Given the description of an element on the screen output the (x, y) to click on. 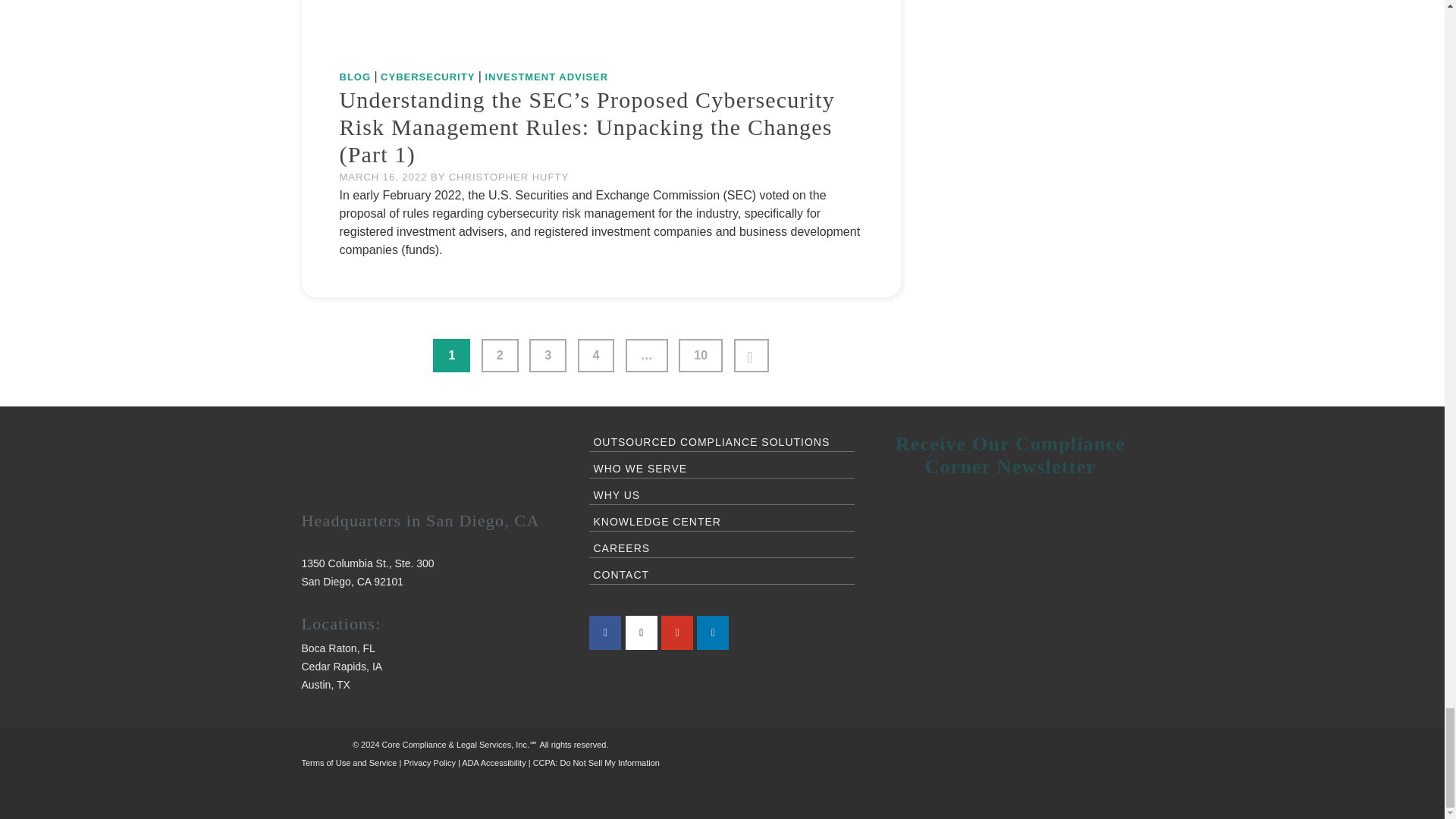
Core Compliance on Youtube (677, 632)
Core Compliance on X Twitter (642, 632)
Core Compliance on Linkedin (713, 632)
Core Compliance on Facebook (605, 632)
